Given the description of an element on the screen output the (x, y) to click on. 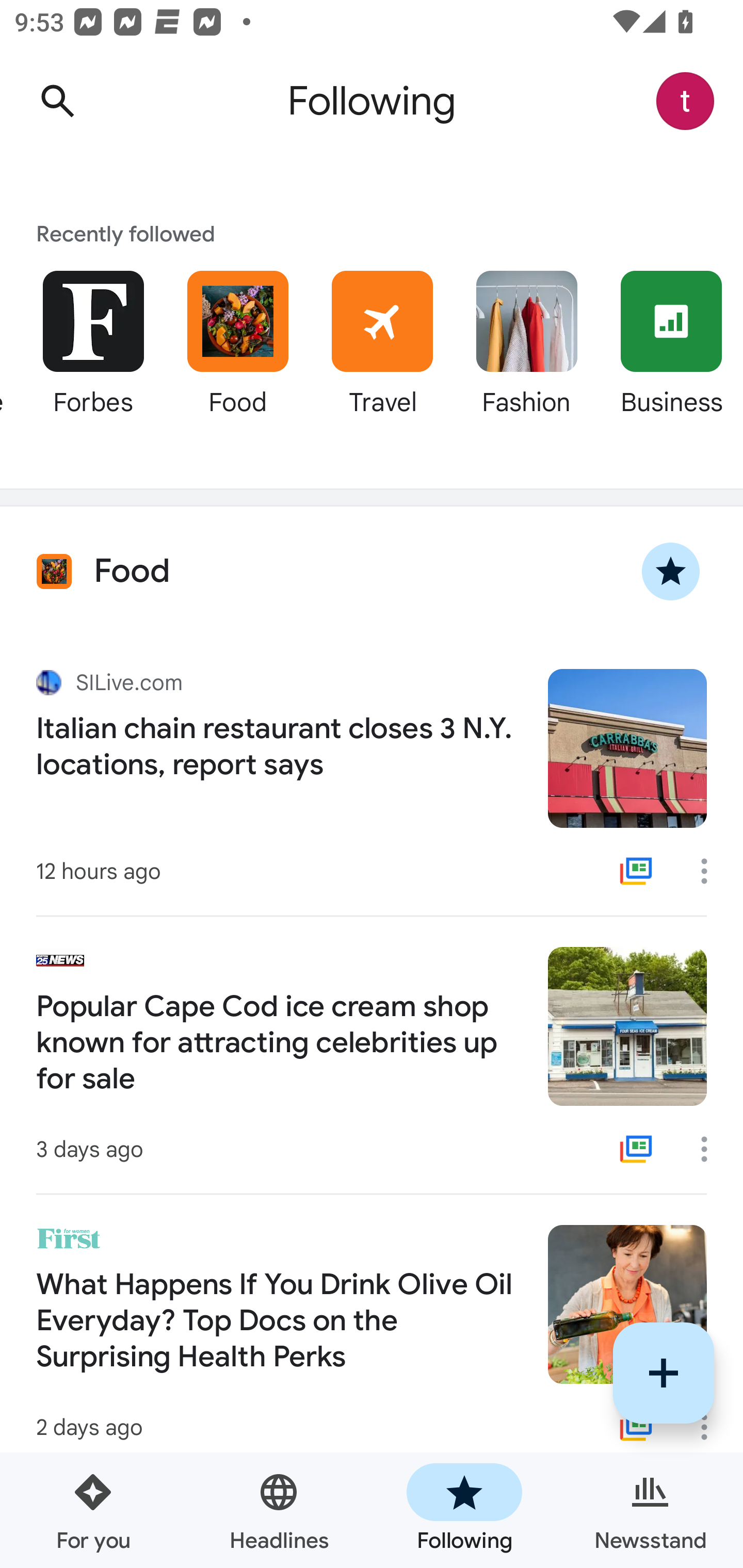
Search (57, 100)
Forbes (92, 355)
Food (237, 355)
Travel (381, 355)
Fashion (526, 355)
Business (670, 355)
Food Food Unfollow (371, 571)
Unfollow (670, 571)
More options (711, 870)
More options (711, 1149)
Follow (663, 1372)
For you (92, 1509)
Headlines (278, 1509)
Following (464, 1509)
Newsstand (650, 1509)
